Given the description of an element on the screen output the (x, y) to click on. 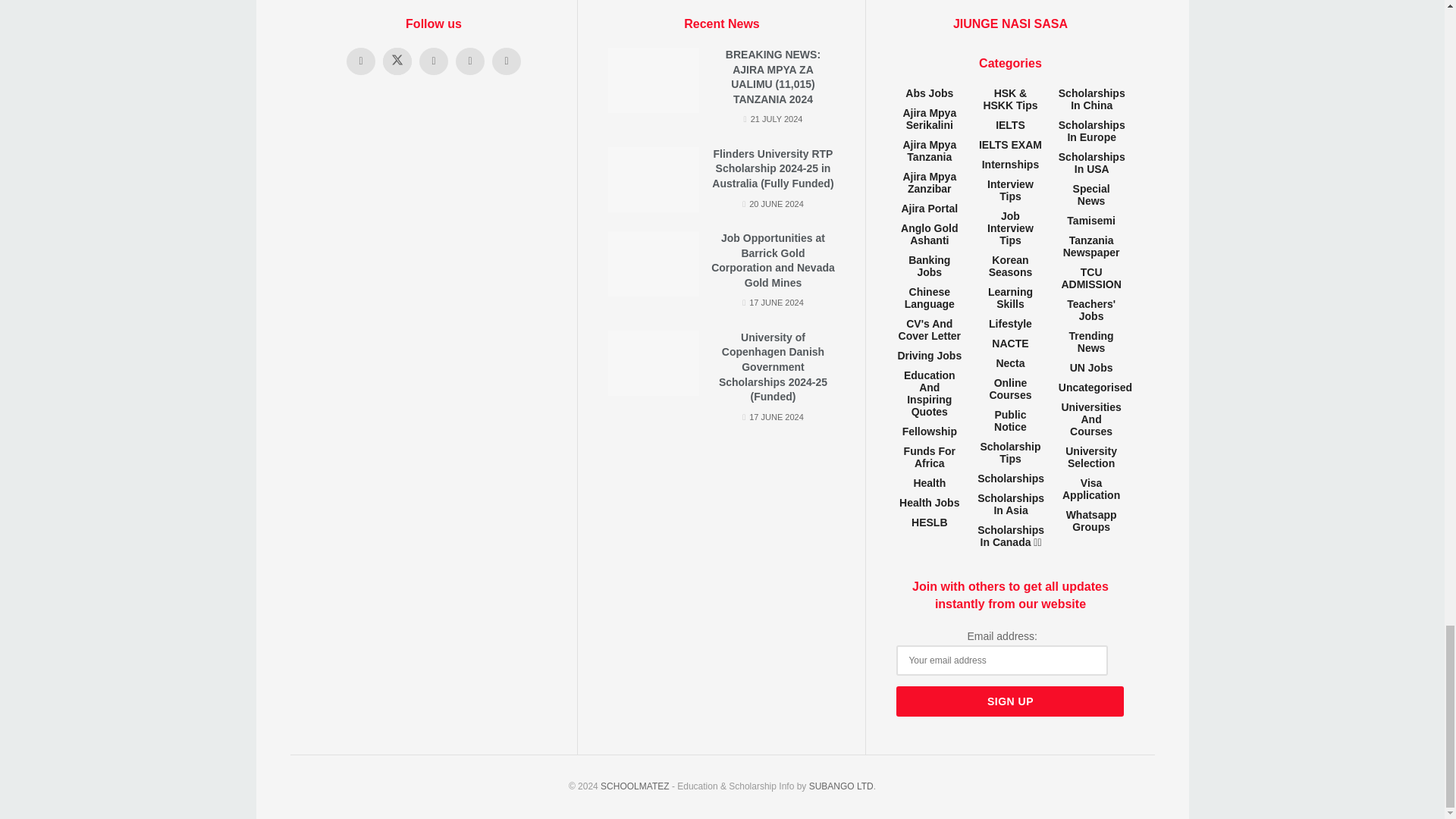
Sign up (1010, 701)
